Given the description of an element on the screen output the (x, y) to click on. 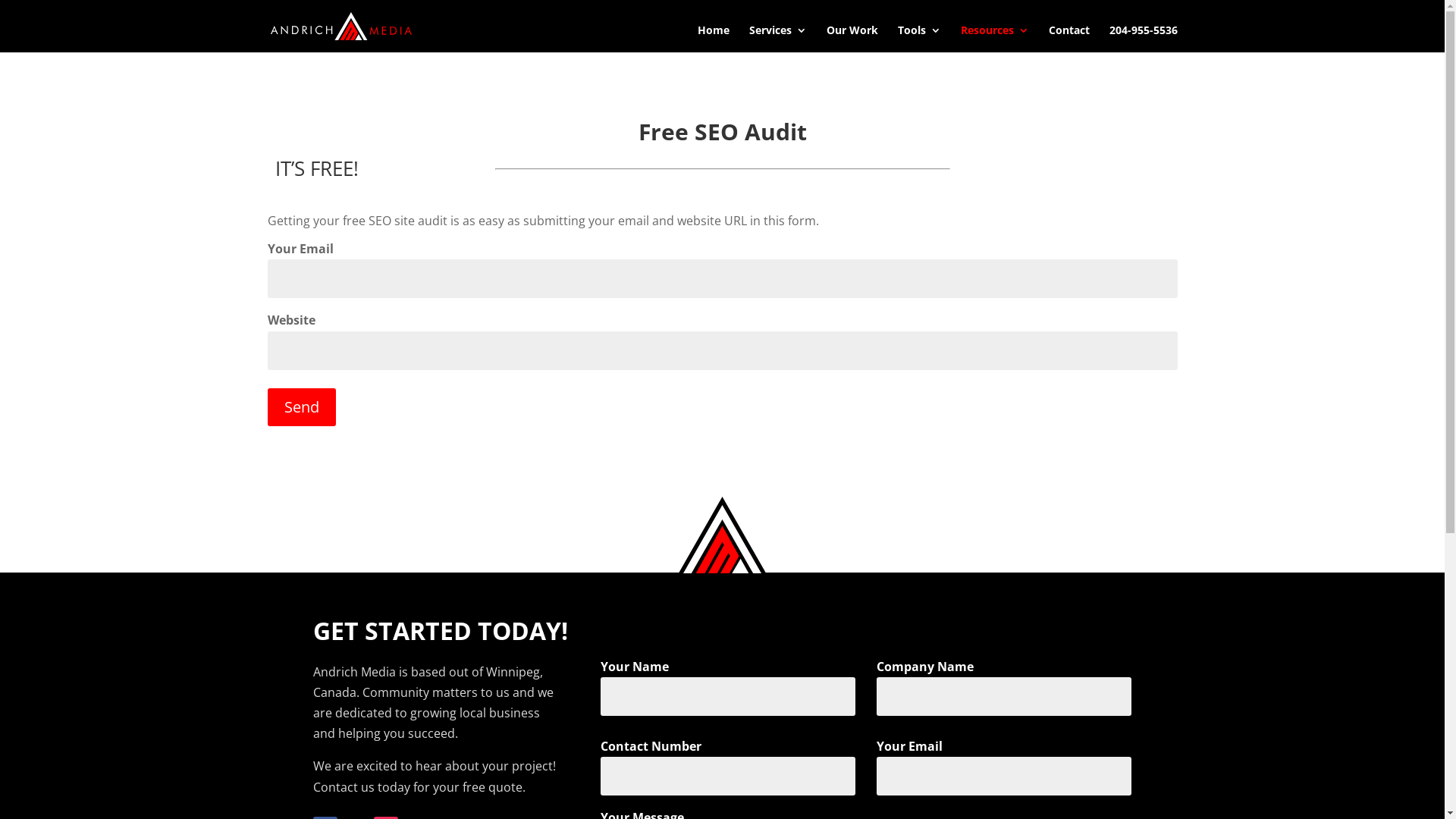
Resources Element type: text (994, 38)
Home Element type: text (713, 38)
Contact Element type: text (1068, 38)
Services Element type: text (777, 38)
204-955-5536 Element type: text (1142, 38)
Send Element type: text (300, 407)
Our Work Element type: text (852, 38)
Tools Element type: text (919, 38)
